Given the description of an element on the screen output the (x, y) to click on. 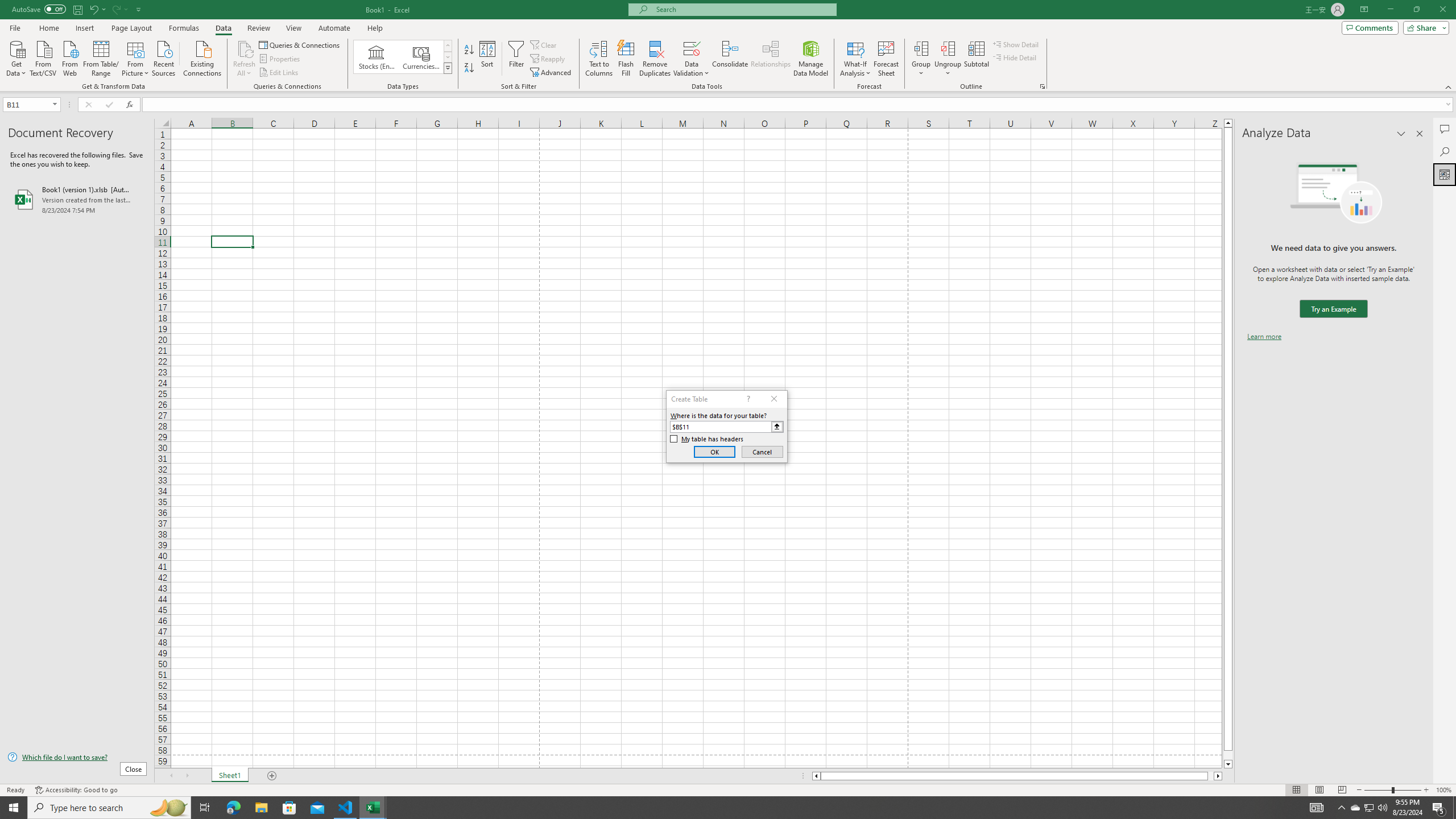
AutomationID: ConvertToLinkedEntity (403, 56)
Subtotal (976, 58)
